Given the description of an element on the screen output the (x, y) to click on. 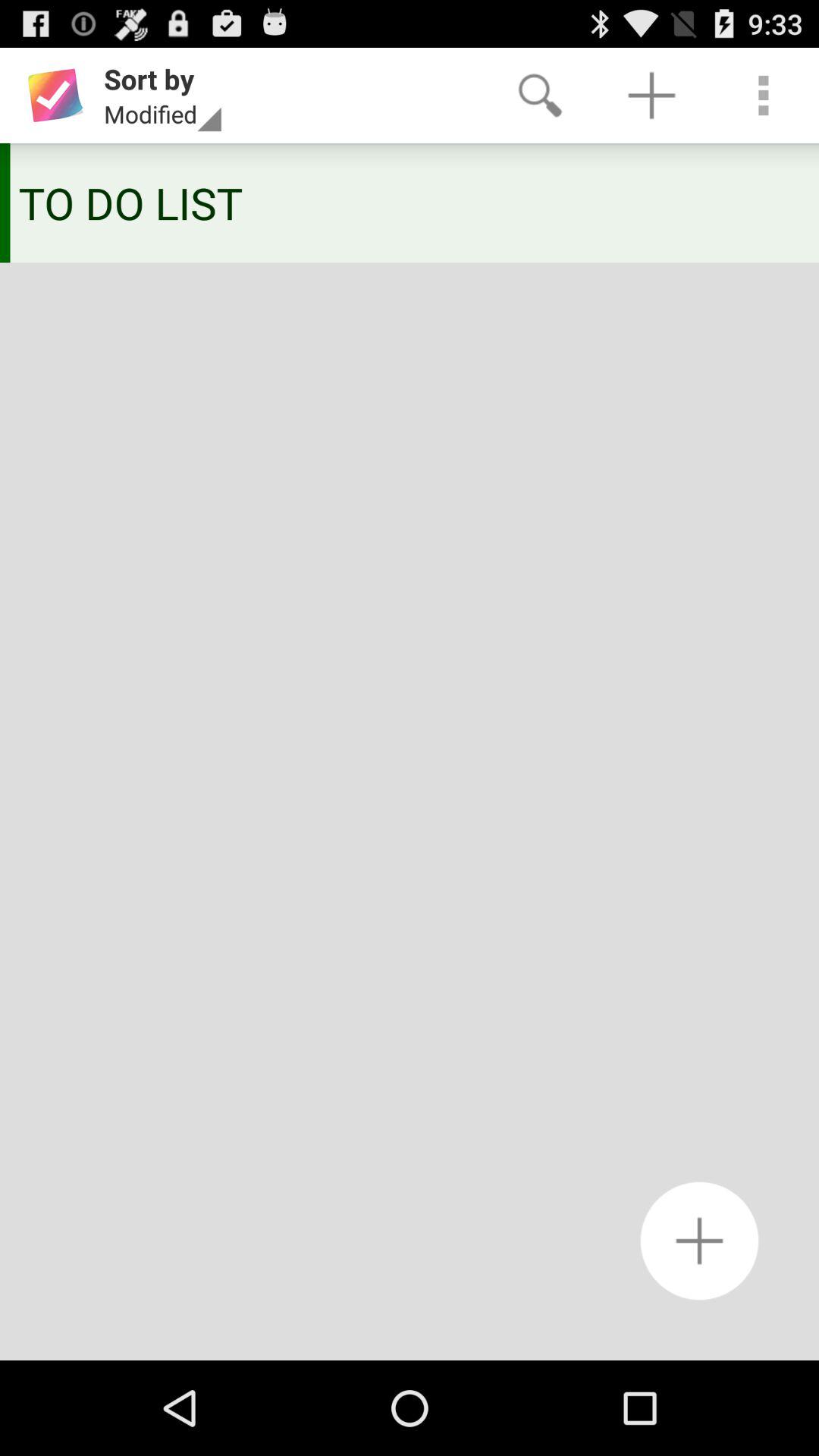
turn off the app to the right of the sort by app (540, 95)
